Given the description of an element on the screen output the (x, y) to click on. 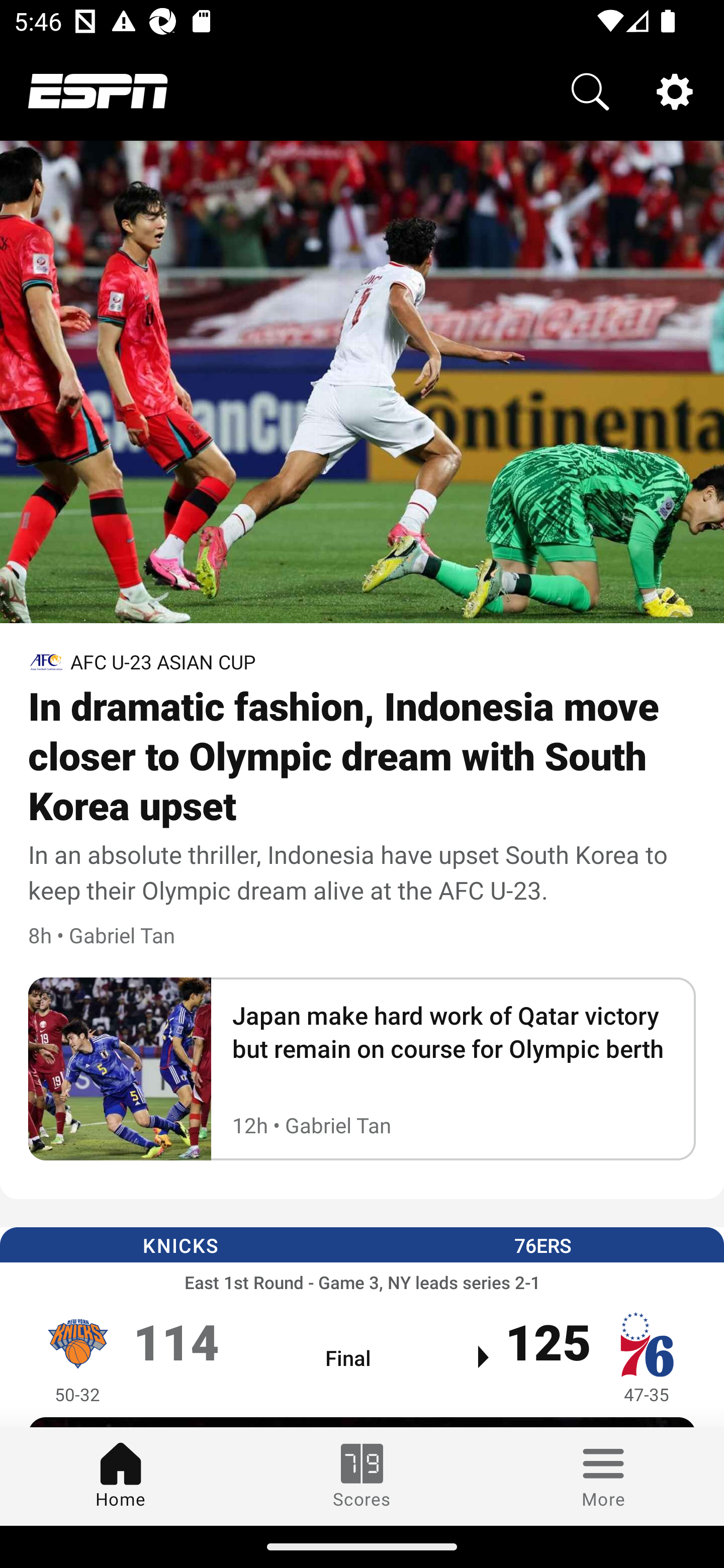
Search (590, 90)
Settings (674, 90)
Scores (361, 1475)
More (603, 1475)
